Given the description of an element on the screen output the (x, y) to click on. 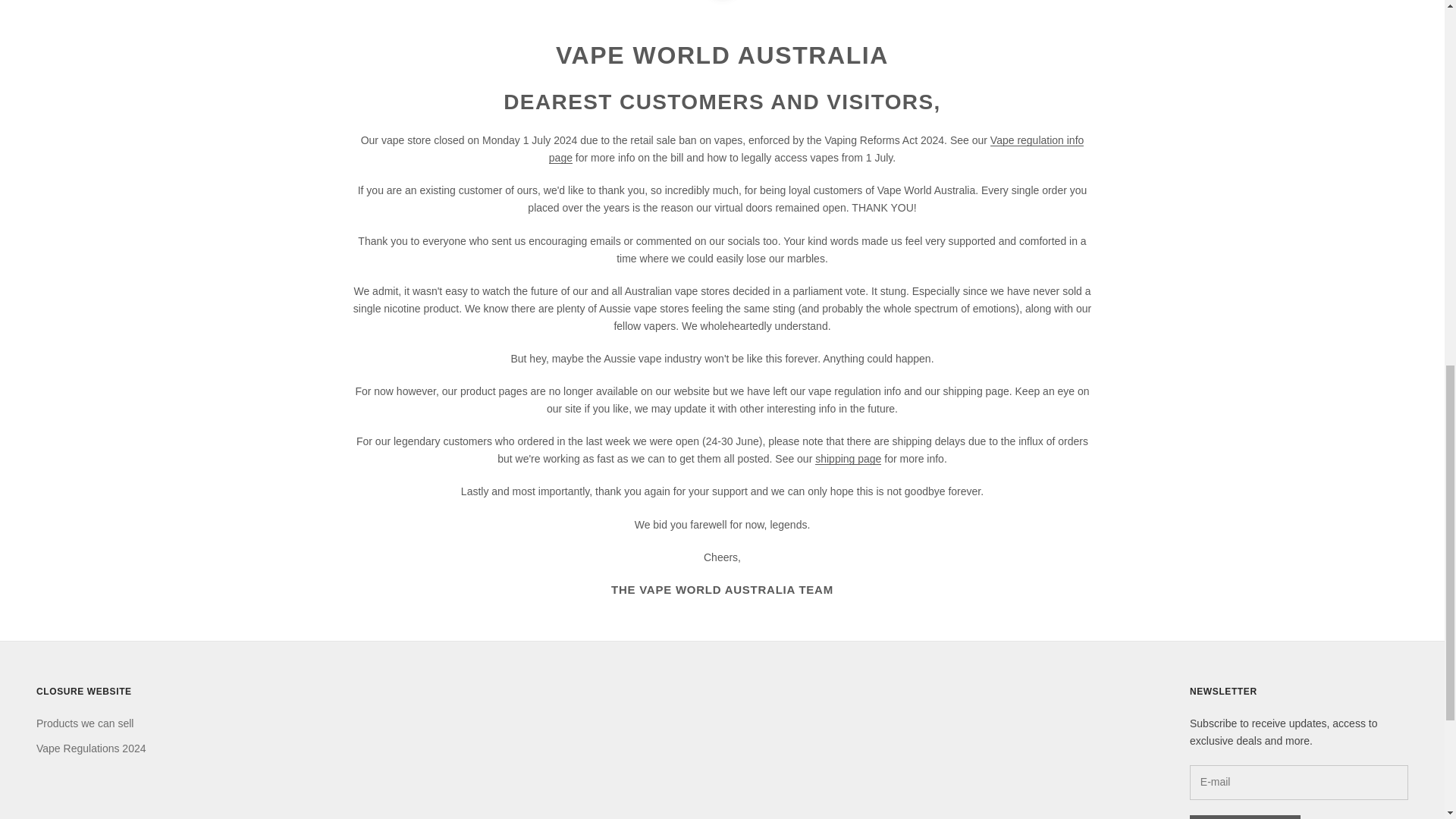
Vape regulation info page (816, 148)
Vape Regulations 2024 (91, 748)
SUBSCRIBE (1244, 816)
Products we can sell (84, 723)
shipping page (847, 458)
